Given the description of an element on the screen output the (x, y) to click on. 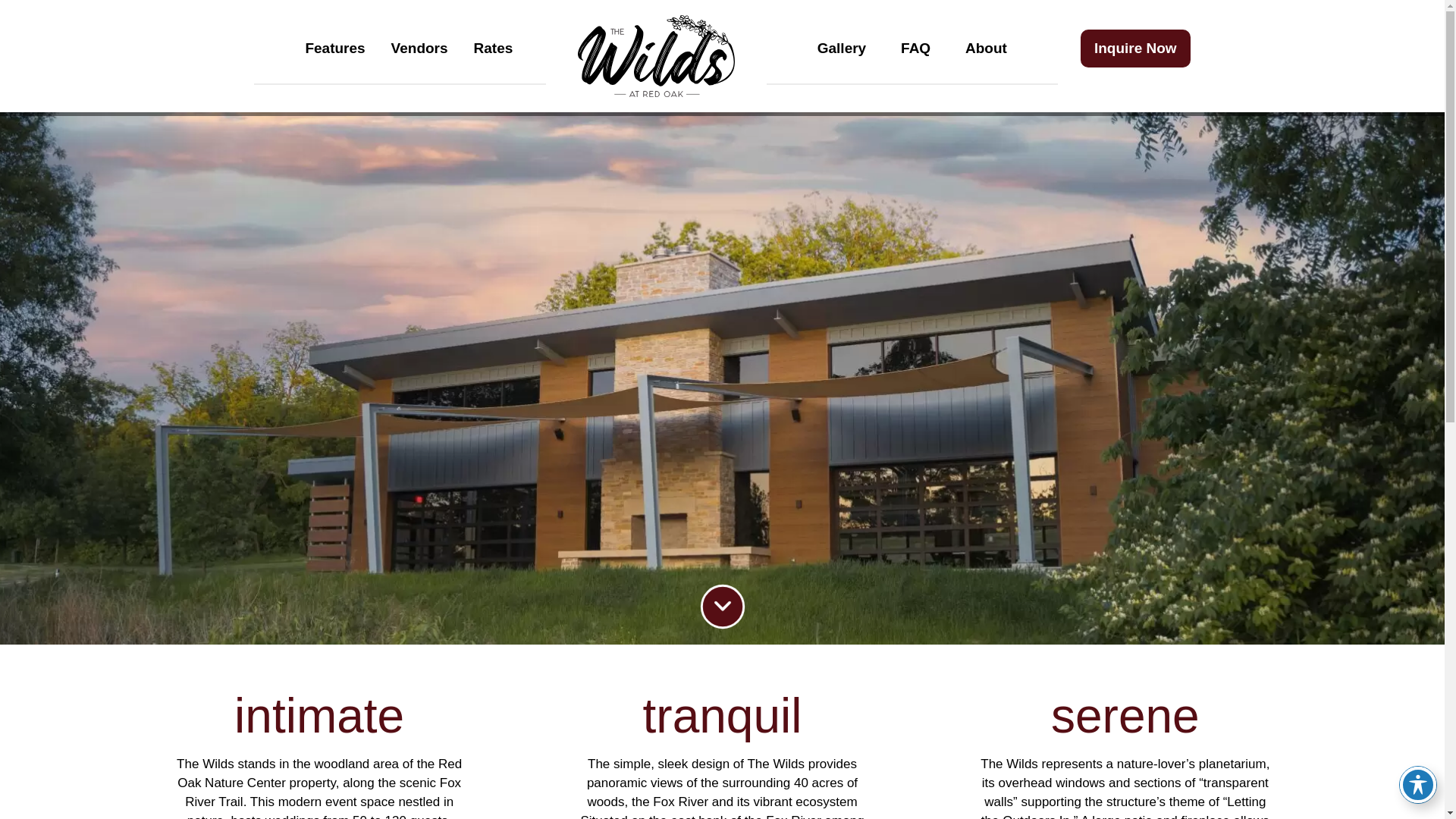
Features (334, 47)
Inquire Now (1135, 47)
Gallery (842, 47)
Rates (493, 47)
Vendors (419, 47)
About (986, 47)
FAQ (915, 47)
